Given the description of an element on the screen output the (x, y) to click on. 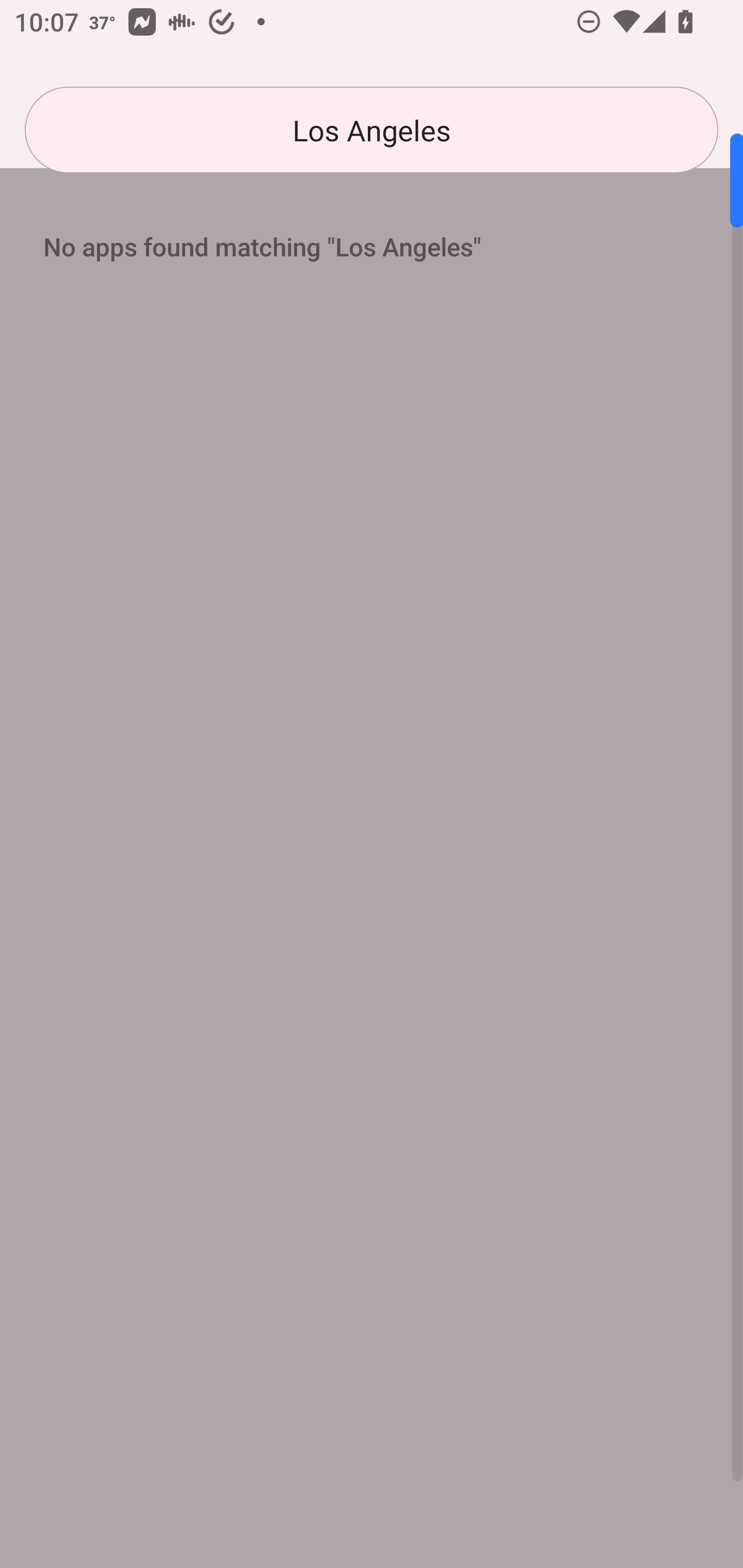
Los Angeles (371, 130)
